Given the description of an element on the screen output the (x, y) to click on. 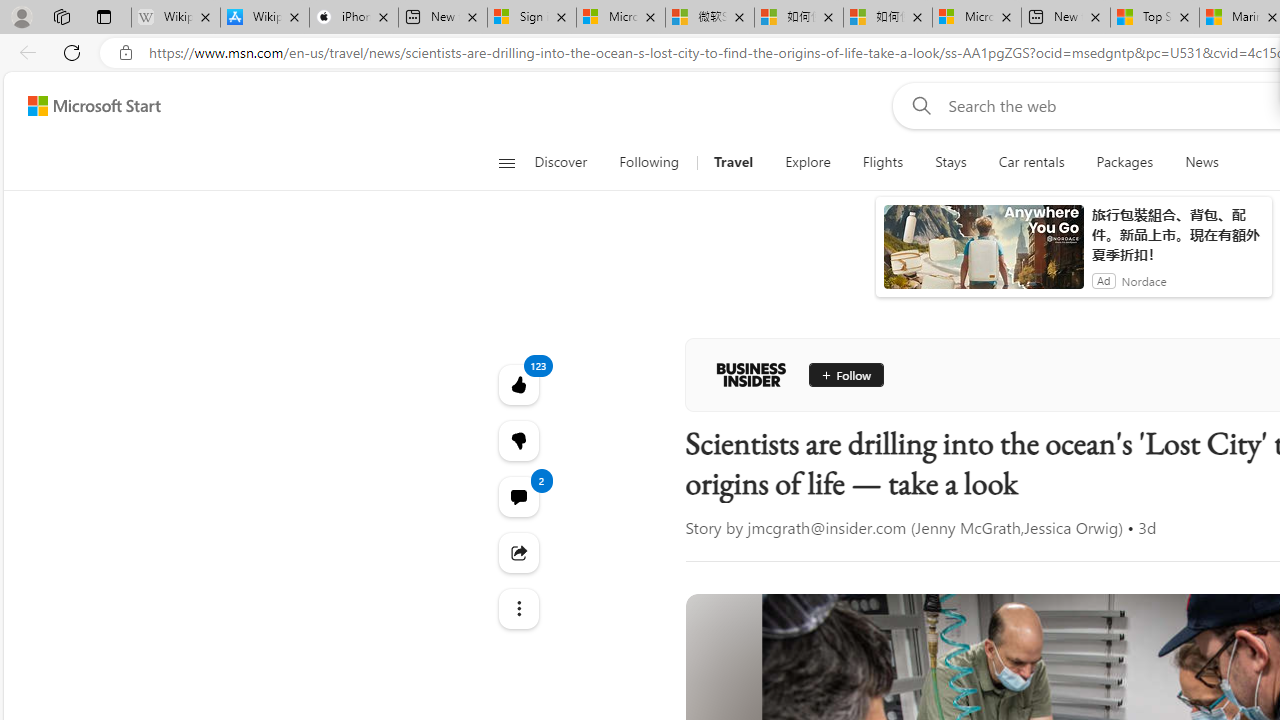
Explore (807, 162)
Microsoft account | Account Checkup (977, 17)
View comments 2 Comment (517, 496)
Open navigation menu (506, 162)
Business Insider (751, 374)
Packages (1124, 162)
123 Like (517, 384)
123 (517, 440)
anim-content (983, 255)
